Given the description of an element on the screen output the (x, y) to click on. 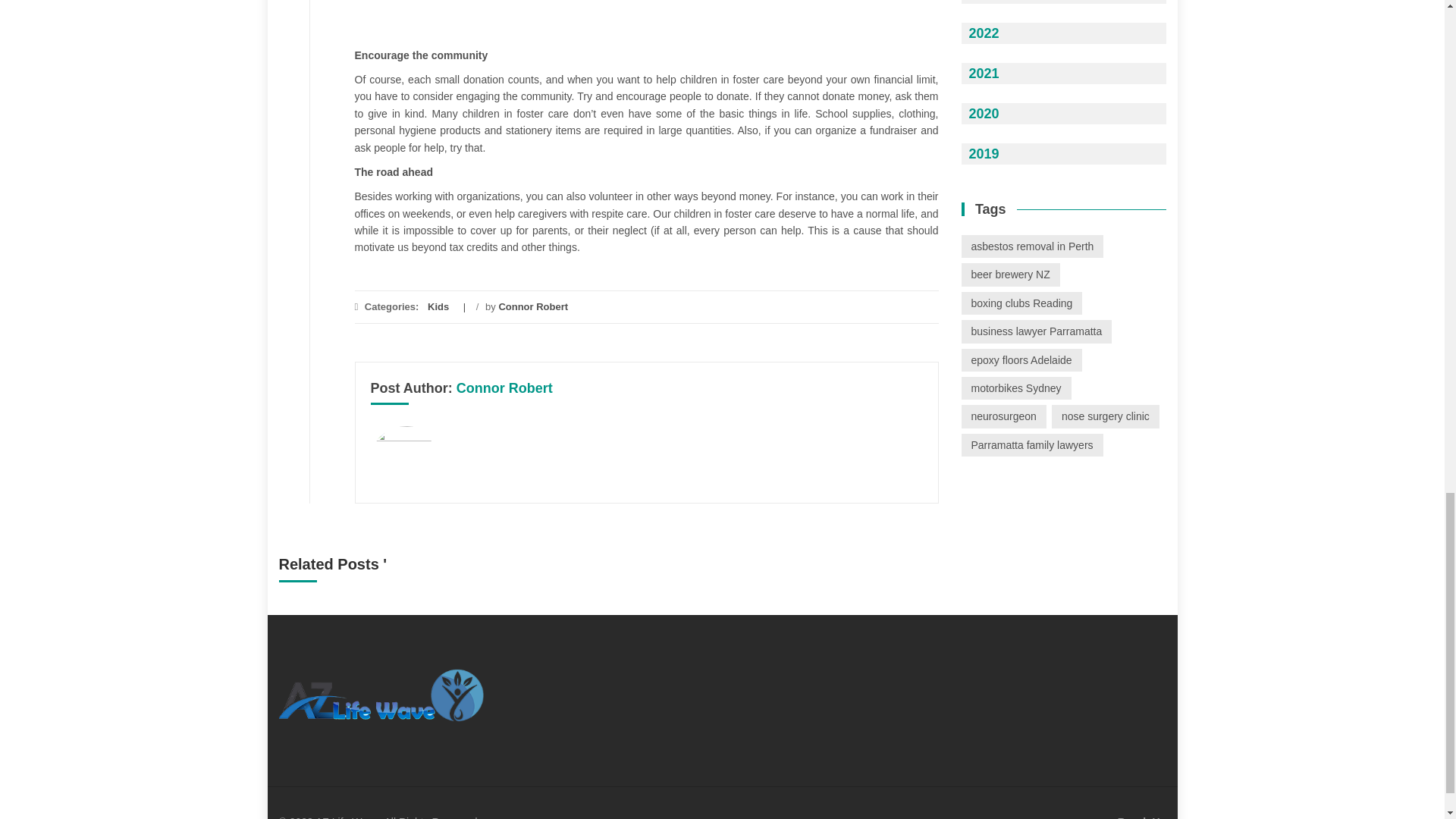
Connor Robert (532, 306)
Connor Robert (505, 387)
Kids (438, 306)
